Given the description of an element on the screen output the (x, y) to click on. 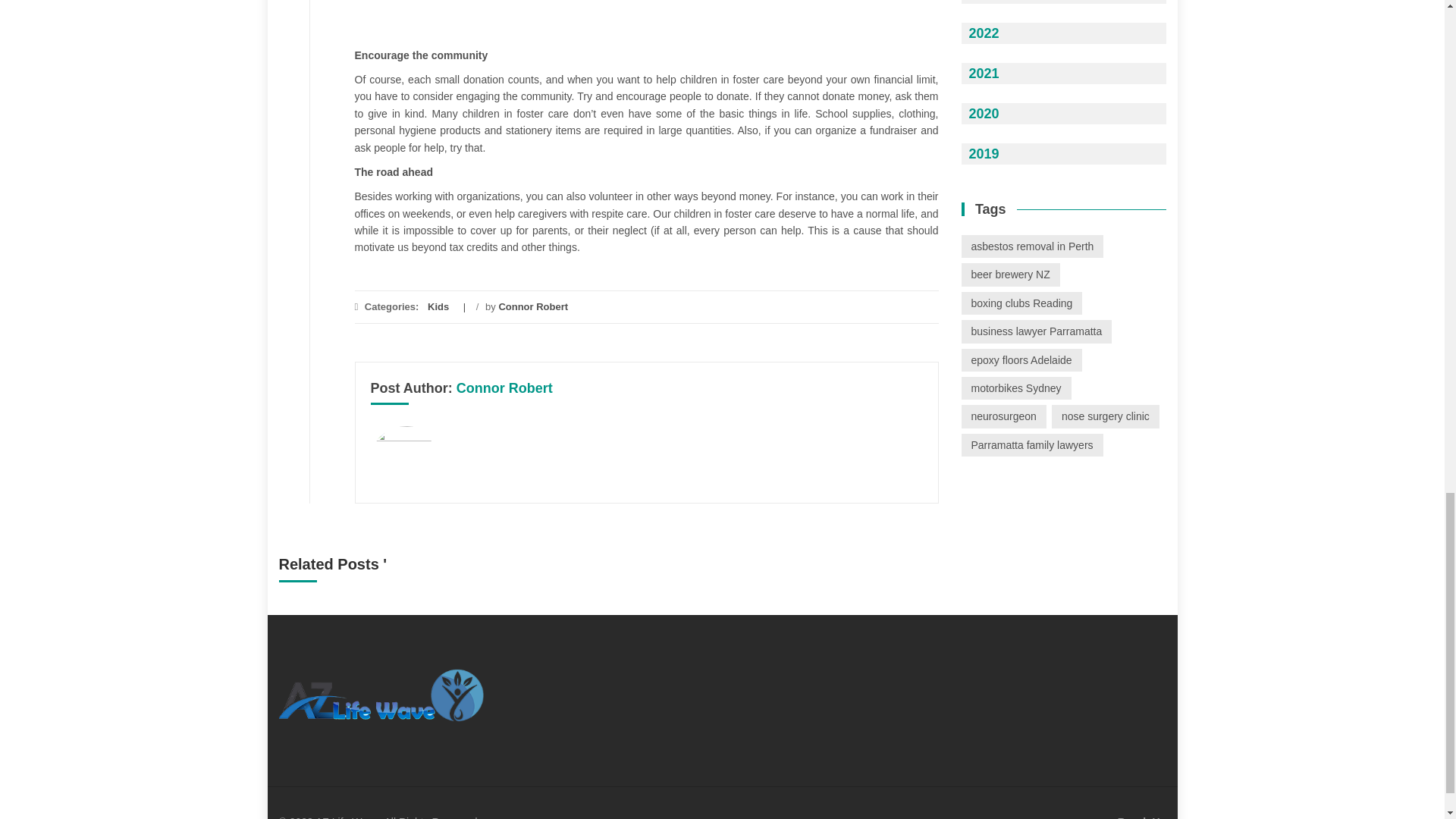
Connor Robert (532, 306)
Connor Robert (505, 387)
Kids (438, 306)
